Given the description of an element on the screen output the (x, y) to click on. 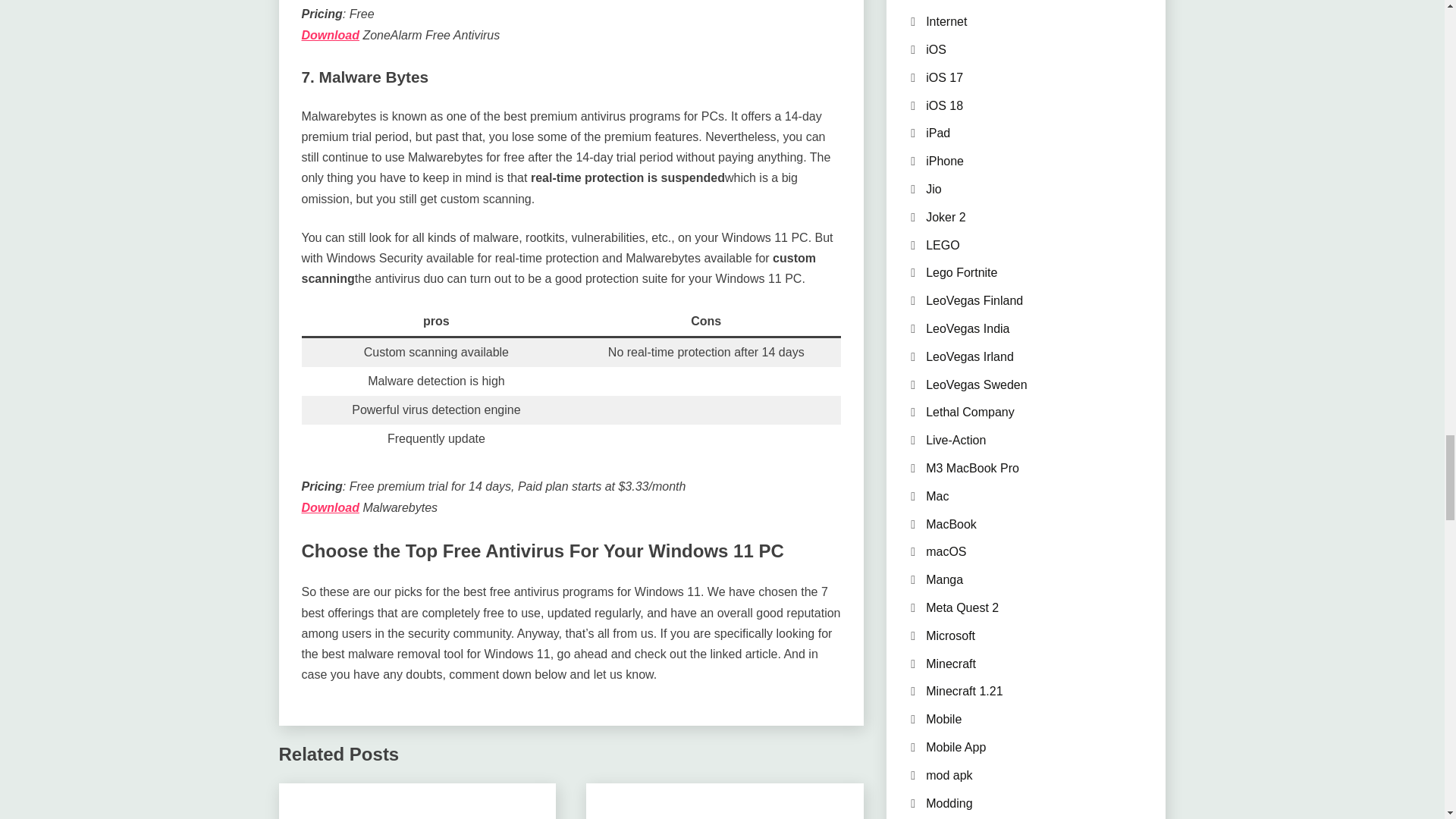
Download (330, 507)
Download (330, 34)
